Given the description of an element on the screen output the (x, y) to click on. 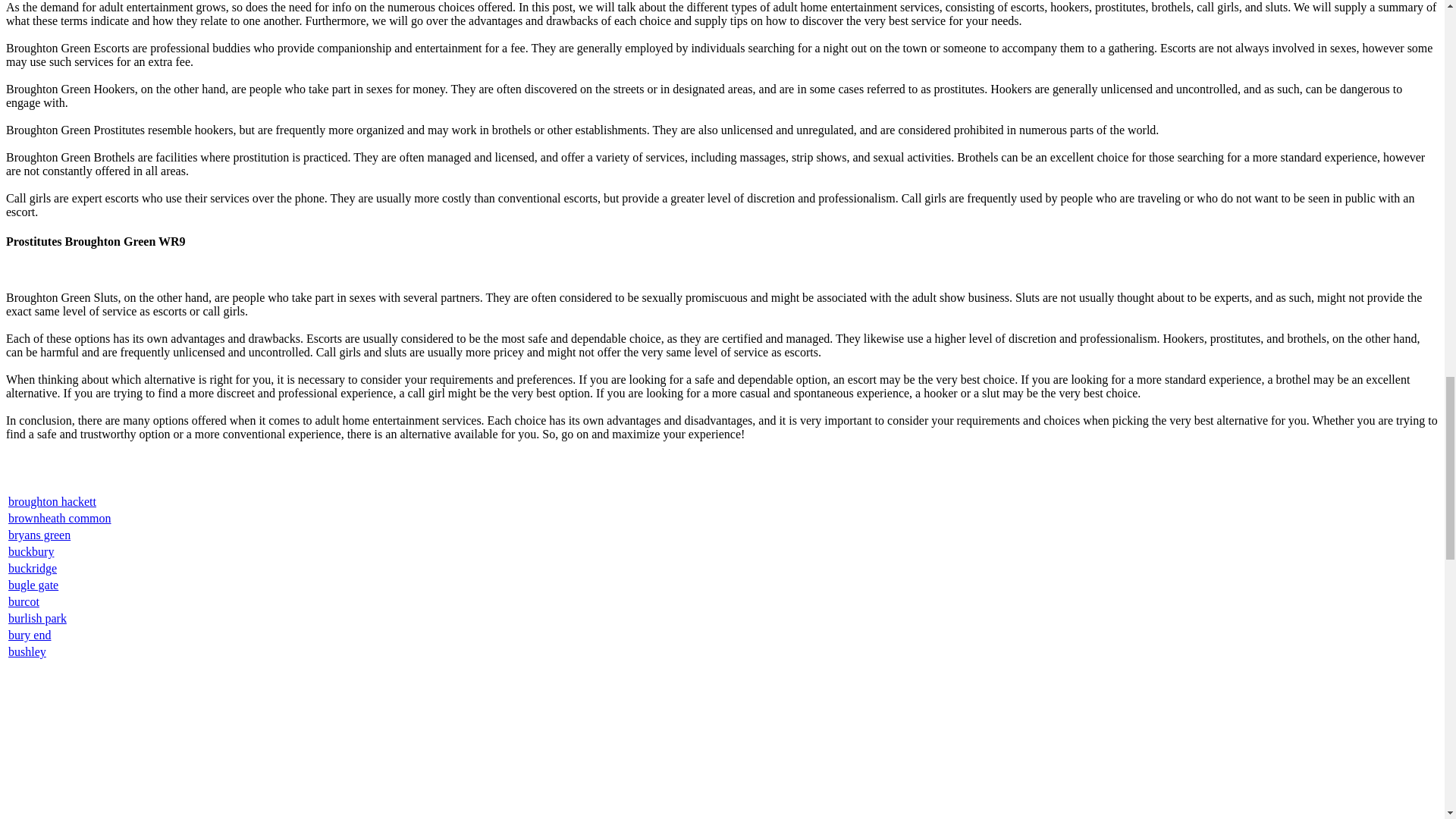
bryans green (38, 534)
bushley (27, 651)
buckridge (32, 567)
burlish park (37, 617)
brownheath common (60, 517)
broughton hackett (52, 501)
buckbury (30, 551)
bury end (29, 634)
bugle gate (33, 584)
burcot (23, 601)
